Given the description of an element on the screen output the (x, y) to click on. 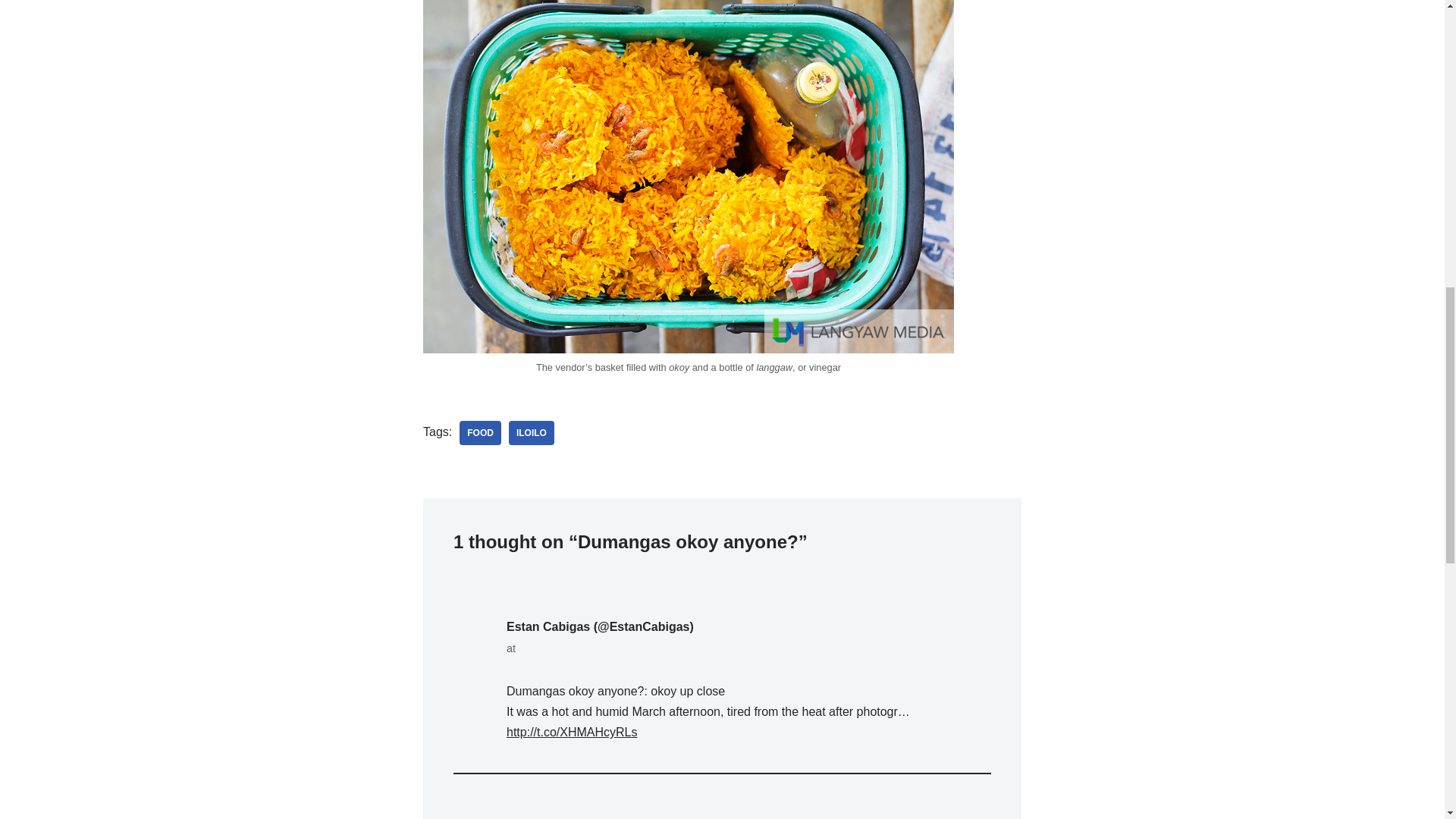
Food (480, 432)
ILOILO (531, 432)
FOOD (480, 432)
Iloilo (531, 432)
at (600, 648)
